Given the description of an element on the screen output the (x, y) to click on. 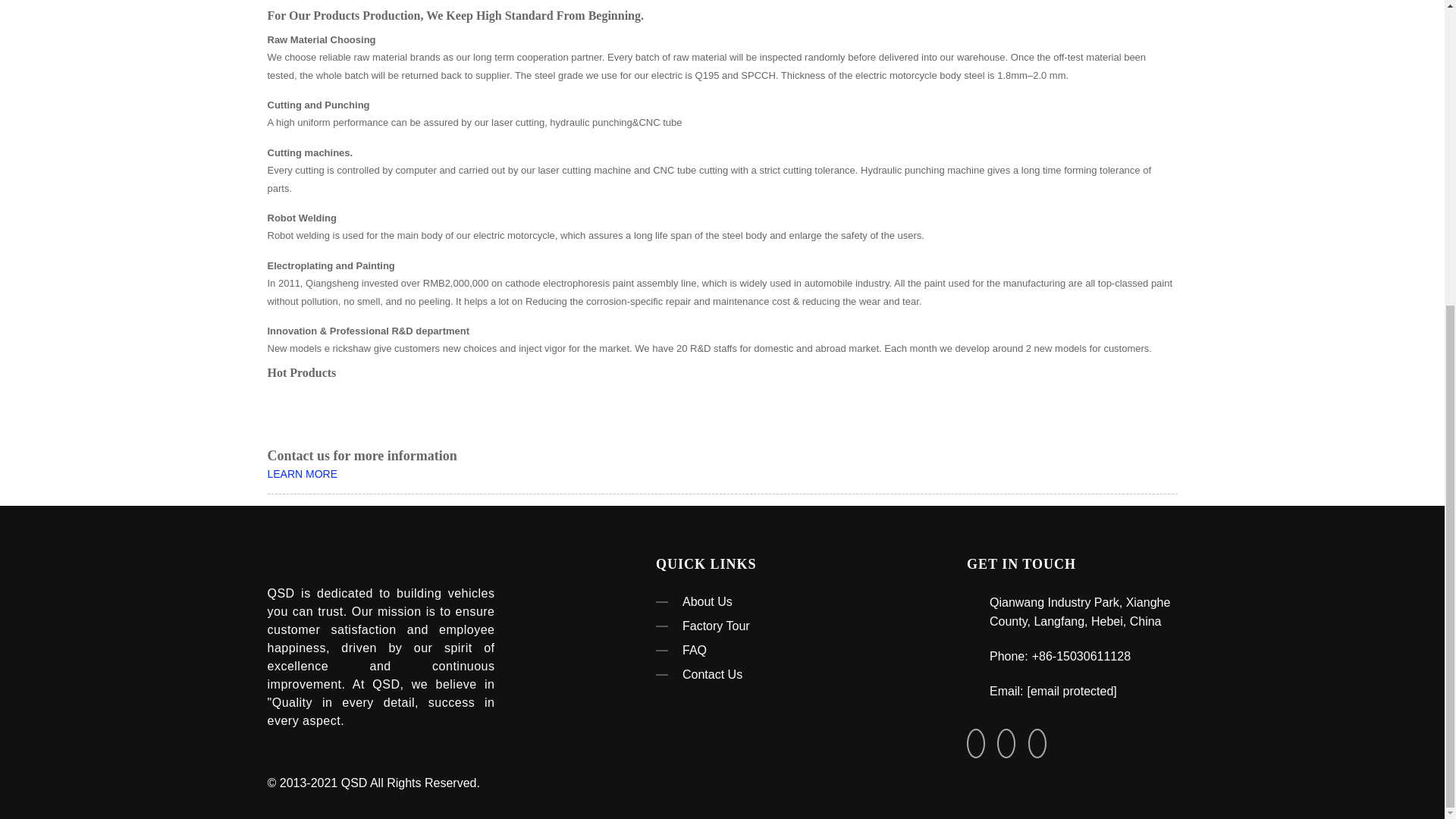
Factory Tour (761, 626)
FAQ (761, 650)
Contact Us (761, 674)
About Us (761, 601)
LEARN MORE (301, 473)
